Given the description of an element on the screen output the (x, y) to click on. 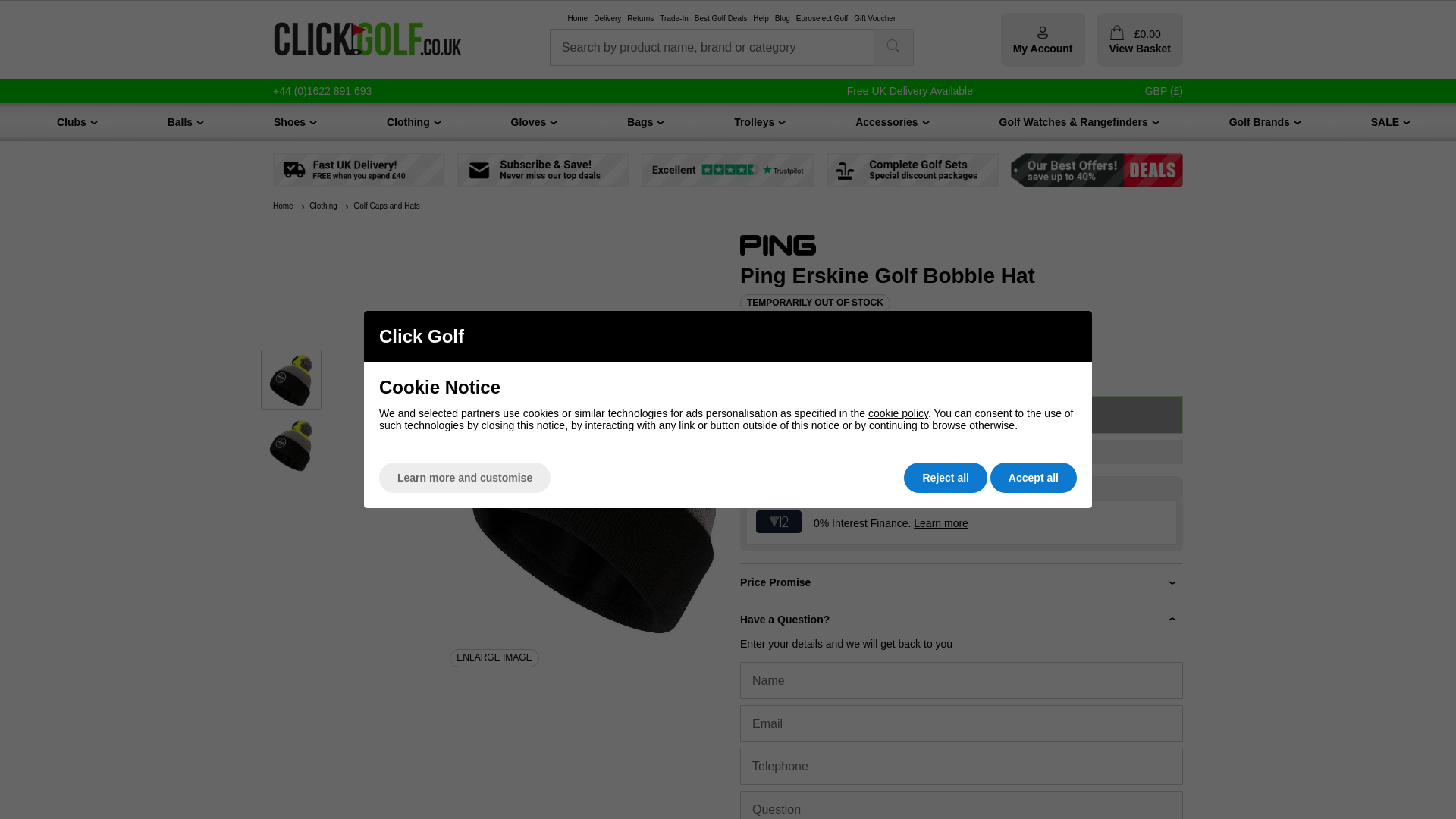
Ping Erskine Golf Bobble Hat (290, 444)
Gift Voucher (874, 18)
Best Golf Deals (720, 18)
Delivery (607, 18)
Prices displayed in GBP (1163, 91)
Home (577, 18)
Shoes (289, 121)
Trade-In (673, 18)
Clubs (70, 121)
Euroselect Golf (821, 18)
